Given the description of an element on the screen output the (x, y) to click on. 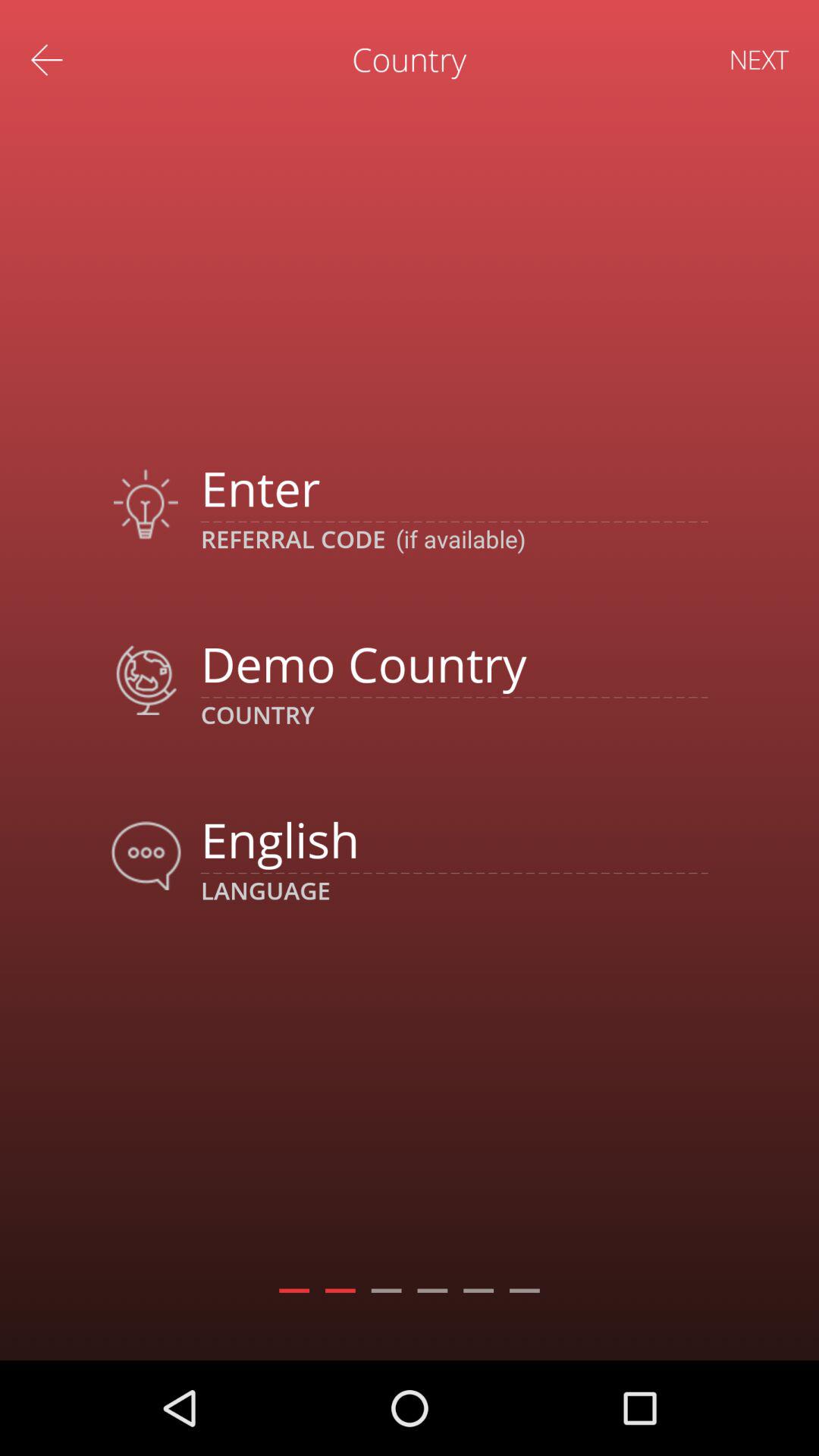
turn on the english icon (454, 839)
